Given the description of an element on the screen output the (x, y) to click on. 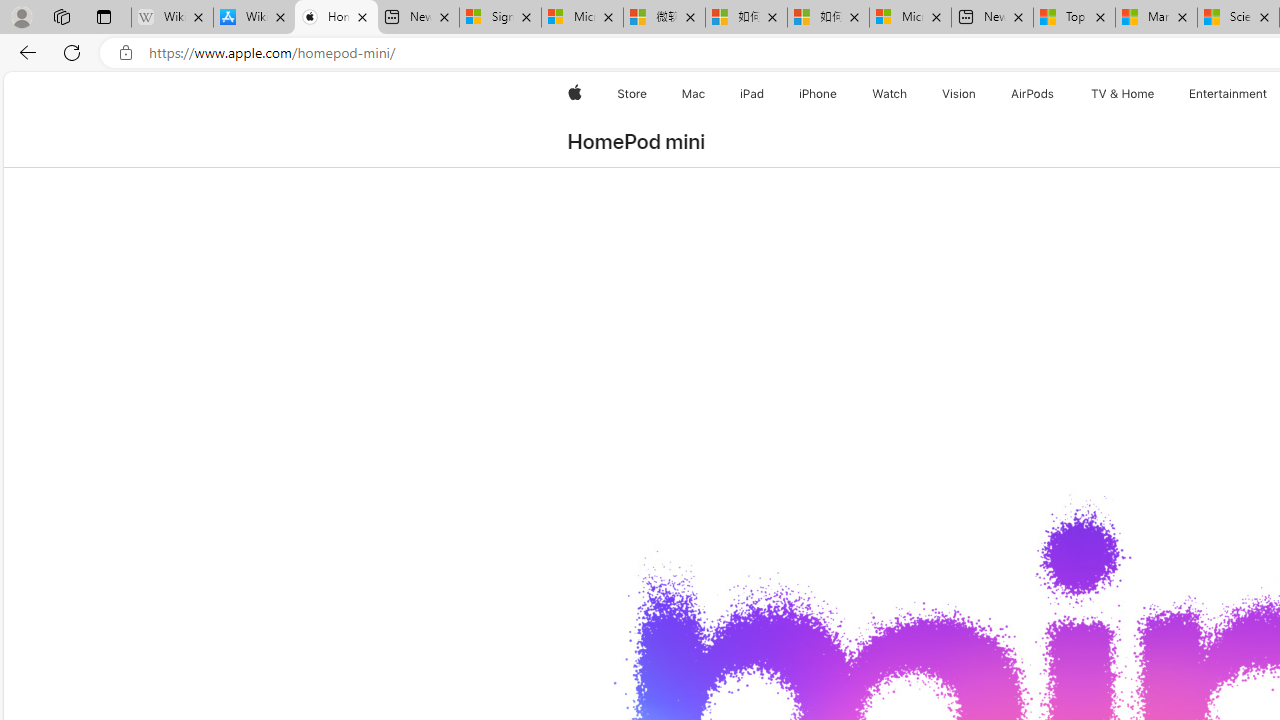
iPad menu (767, 93)
AirPods menu (1058, 93)
TV and Home menu (1157, 93)
Mac (692, 93)
Apple (574, 93)
iPad (750, 93)
iPad (750, 93)
iPhone (818, 93)
HomePod mini - Apple (336, 17)
